Given the description of an element on the screen output the (x, y) to click on. 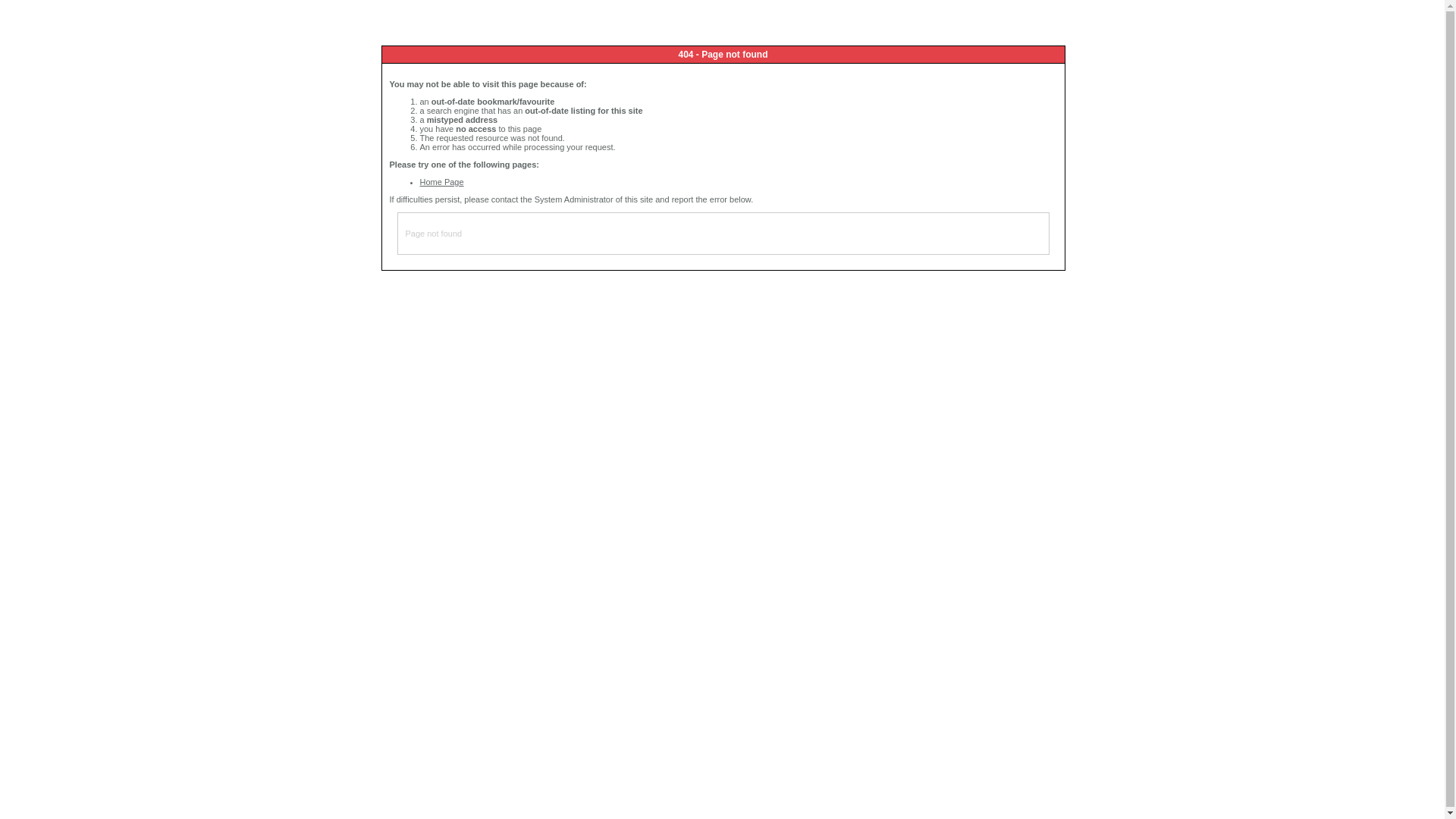
Home Page Element type: text (442, 181)
